Given the description of an element on the screen output the (x, y) to click on. 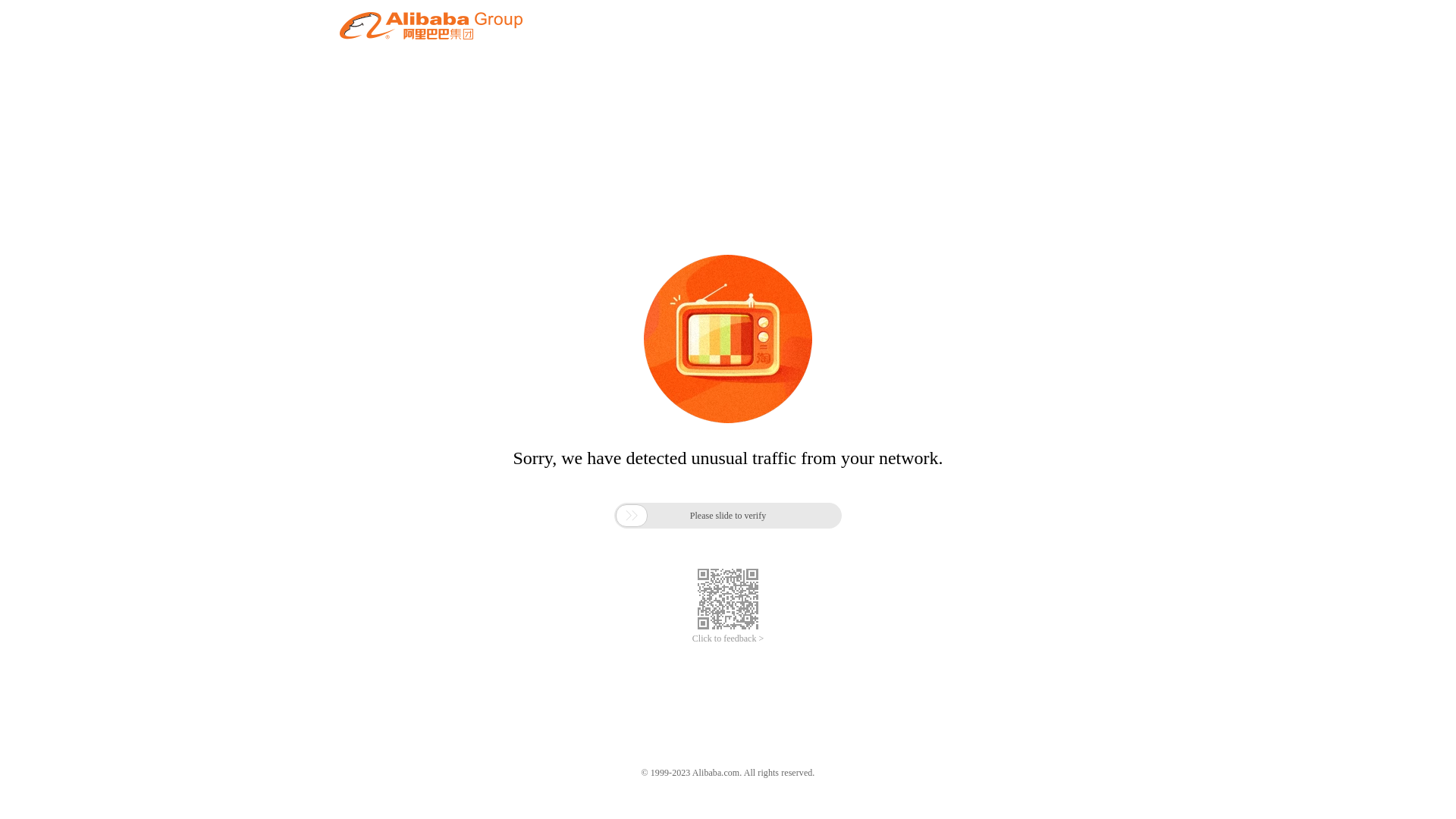
Click to feedback > Element type: text (727, 638)
